Given the description of an element on the screen output the (x, y) to click on. 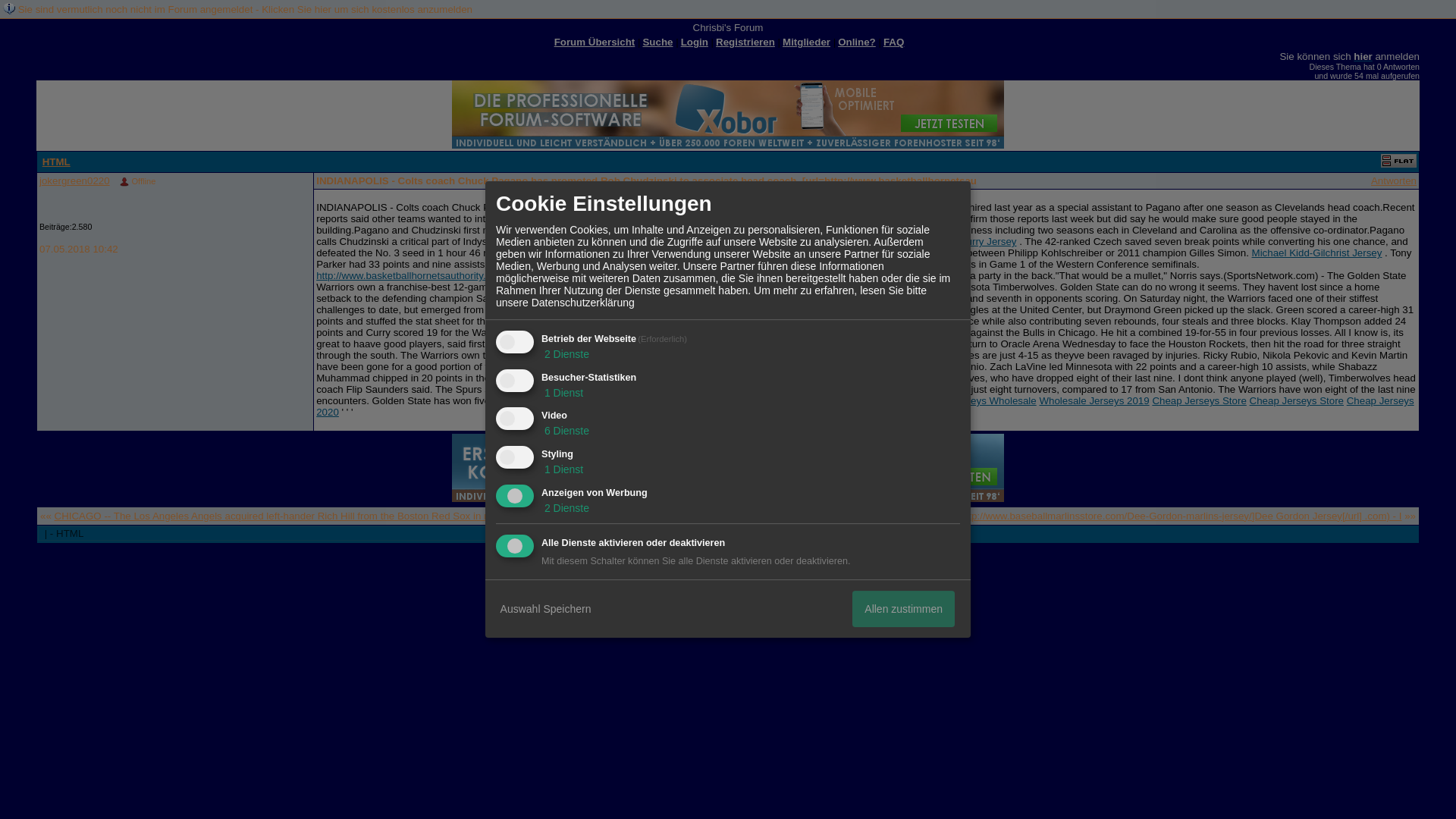
Cheap Jerseys Store (1198, 400)
Michael Kidd-Gilchrist Jersey (1316, 252)
Erstelle dein eigenes Forum mit Xobor (727, 114)
Login (694, 41)
Online? (857, 41)
2 Dienste (565, 354)
Erstelle ein eigenes Forum mit Xobor (735, 566)
Wholesale Jerseys 2019 (1093, 400)
Cheap NFL Jerseys China (754, 400)
jokergreen0220 (74, 180)
1 Dienst (562, 469)
HTML (55, 161)
www.pro32.ap.org (759, 241)
Cheap Jerseys 2020 (864, 405)
Dell Curry Jersey (977, 241)
